Given the description of an element on the screen output the (x, y) to click on. 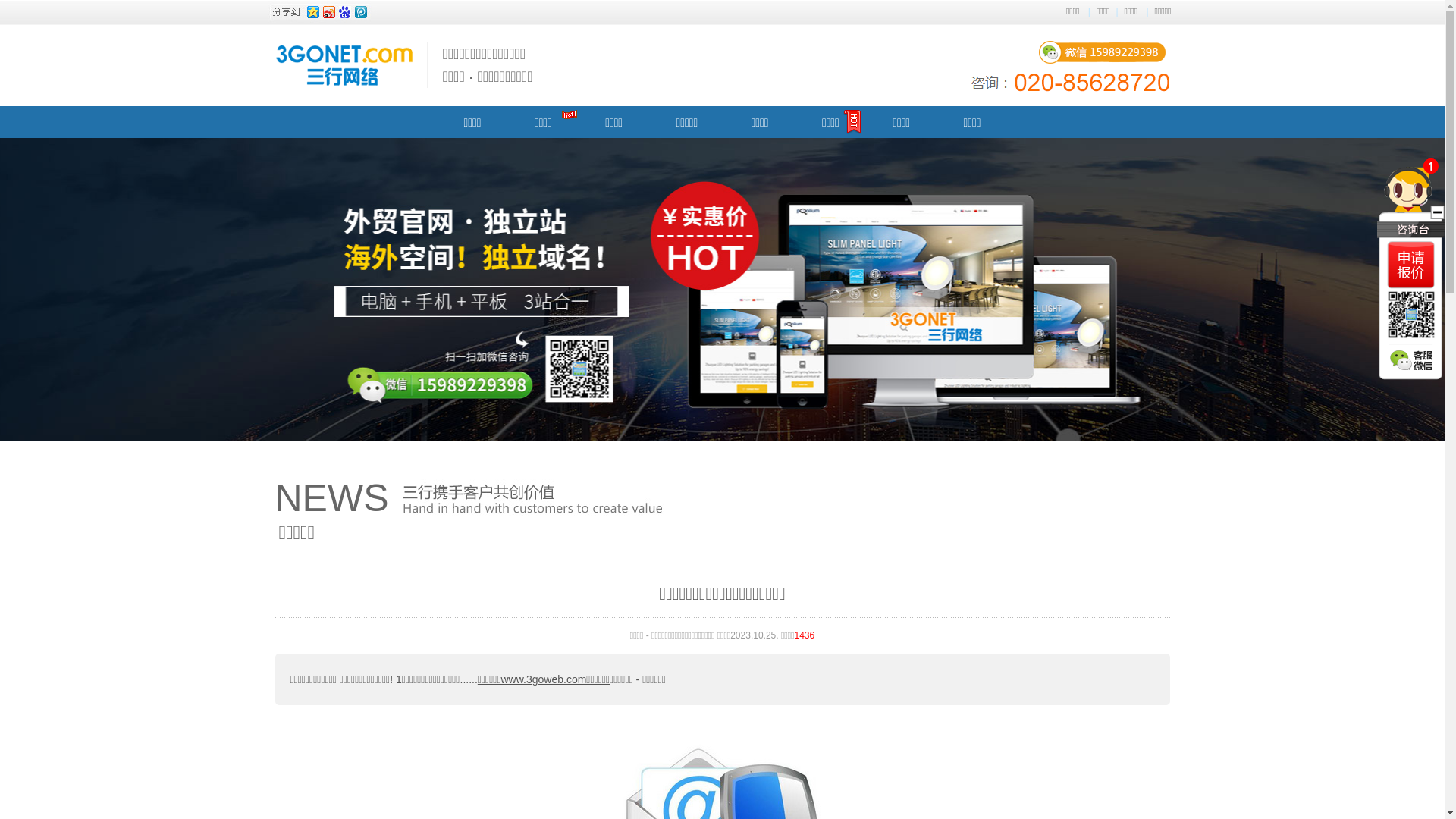
  Element type: text (722, 289)
